Given the description of an element on the screen output the (x, y) to click on. 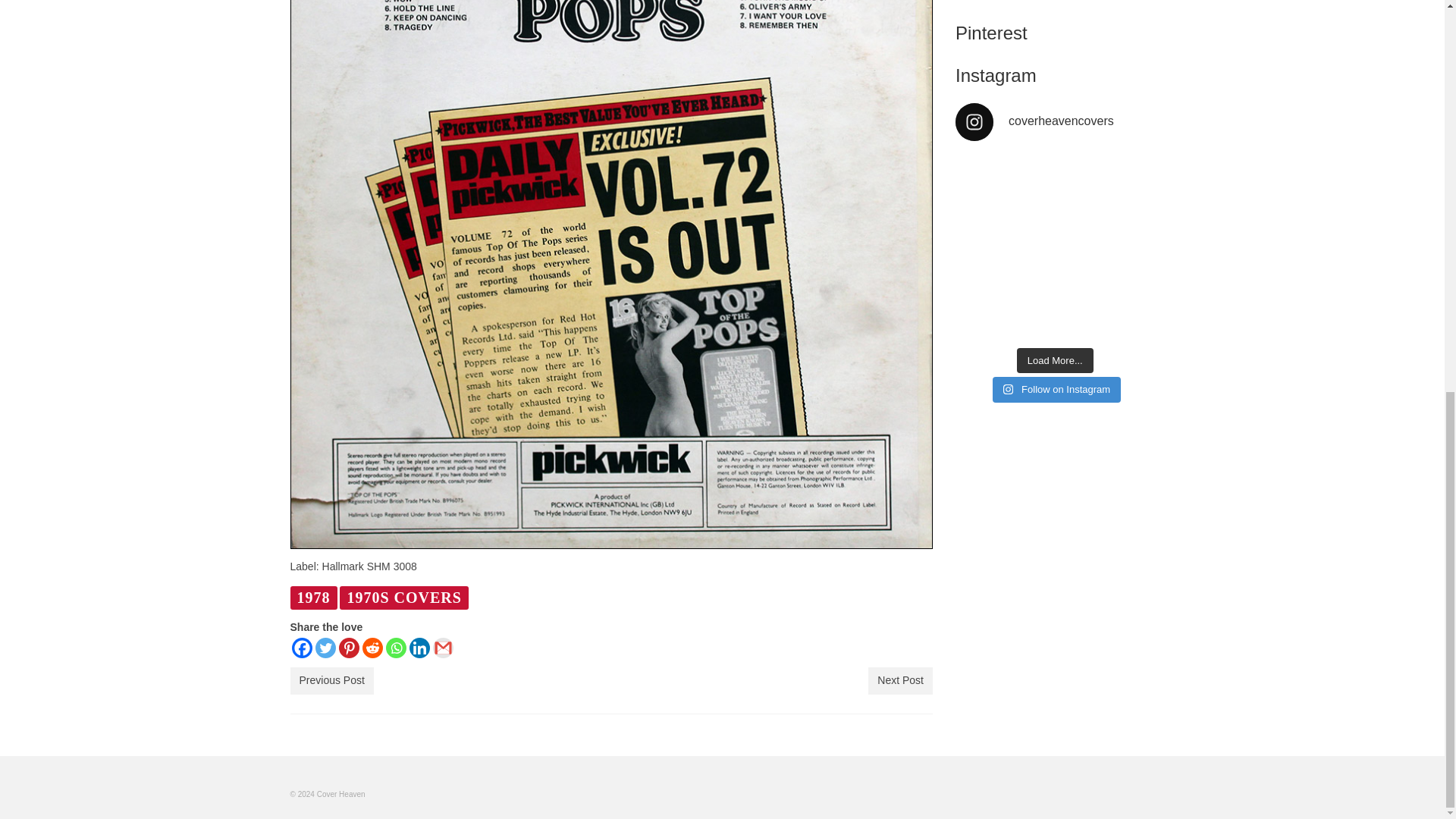
Google Gmail (442, 648)
Whatsapp (395, 648)
Pinterest (347, 648)
Linkedin (419, 648)
Twitter (325, 648)
Reddit (372, 648)
Facebook (301, 648)
